Given the description of an element on the screen output the (x, y) to click on. 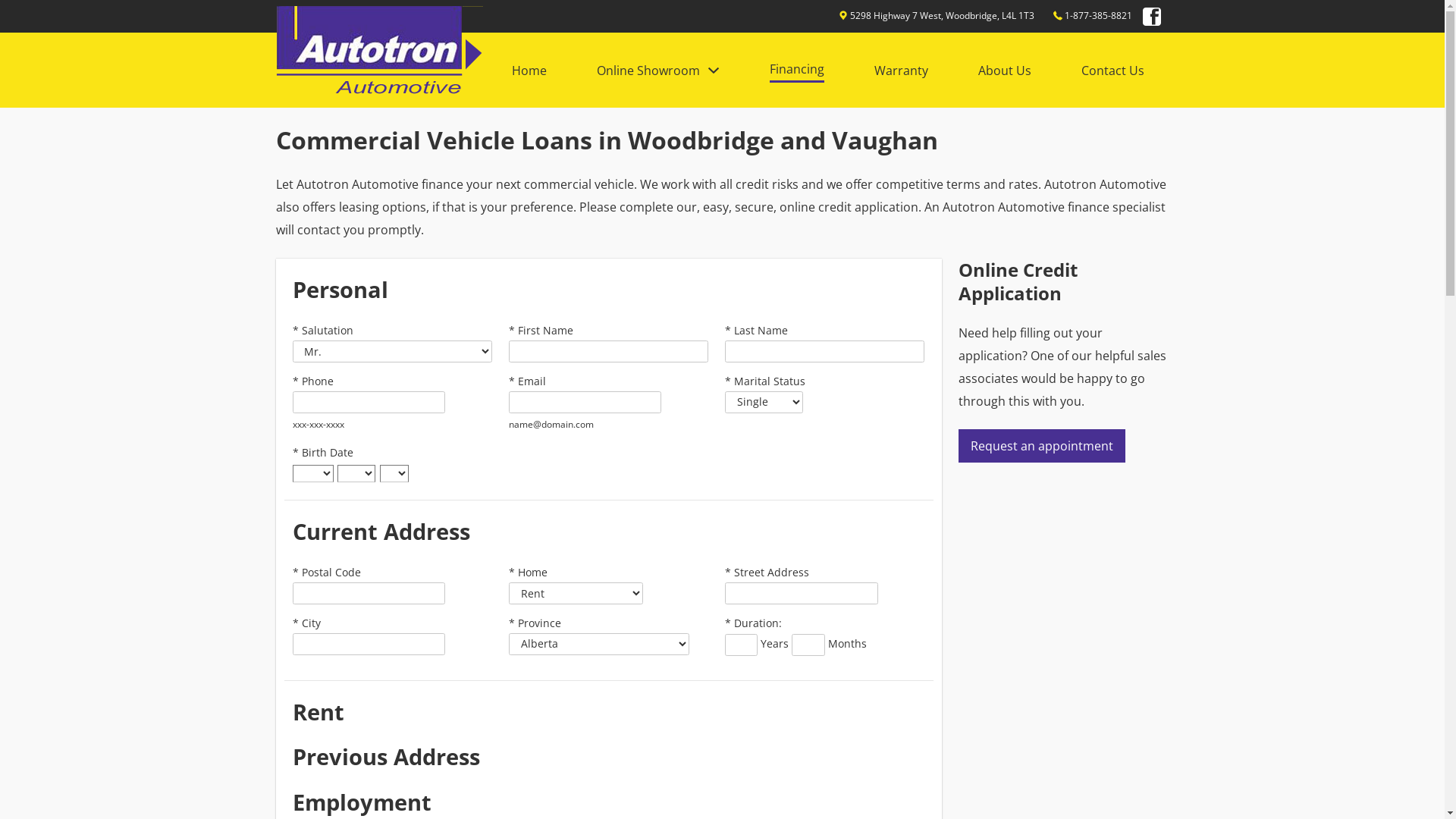
5298 Highway 7 West, Woodbridge,
Ontario
L4L 1T3 Element type: text (942, 15)
facebook icon Element type: text (1151, 15)
Request an appointment Element type: text (1041, 445)
About Us Element type: text (1004, 70)
Contact Us Element type: text (1112, 70)
Financing Element type: text (796, 70)
Warranty Element type: text (900, 70)
Autotron Automotive Element type: text (379, 53)
Home Element type: text (529, 70)
1-877-385-8821 Element type: text (1098, 15)
